Given the description of an element on the screen output the (x, y) to click on. 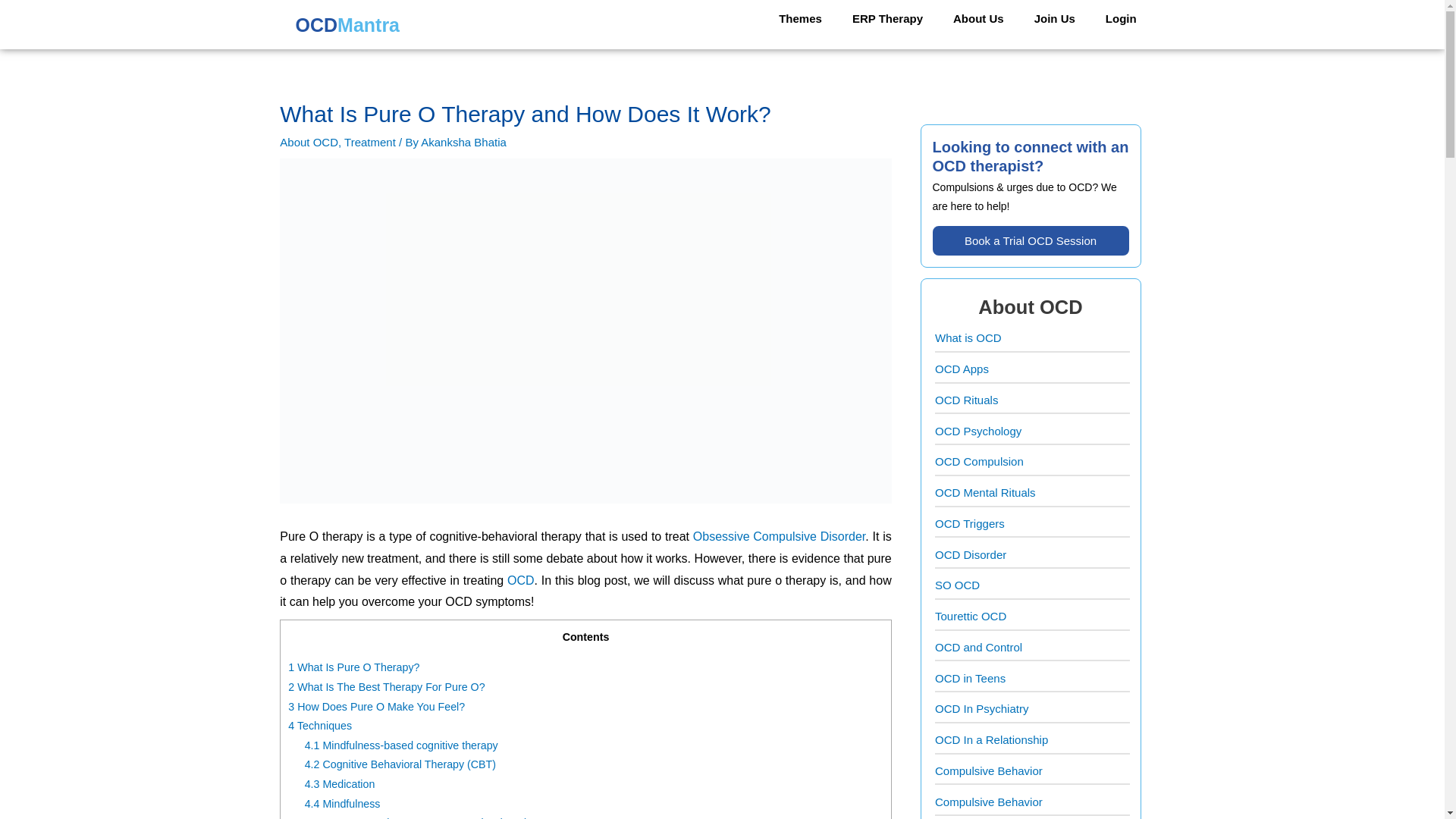
Join Us (1054, 18)
About Us (978, 18)
Themes (799, 18)
OCDMantra (344, 27)
OCD (520, 580)
ERP Therapy (887, 18)
Login (1120, 18)
obsessive compulsive disorder (778, 535)
View all posts by Akanksha Bhatia (463, 141)
